Given the description of an element on the screen output the (x, y) to click on. 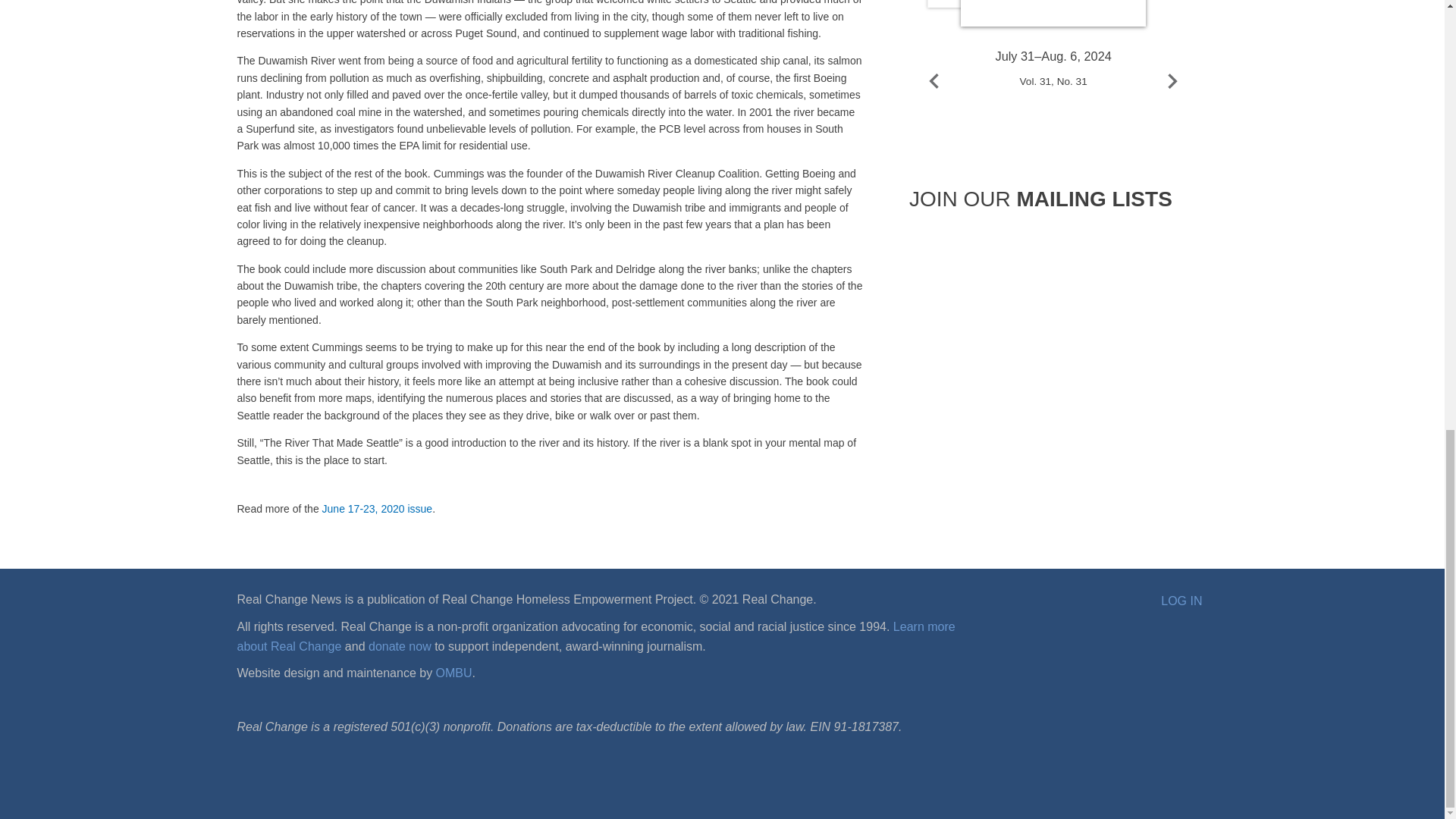
OMBU (453, 672)
Previous issue (933, 80)
LOG IN (1181, 600)
June 17-23, 2020 issue (376, 508)
donate now (399, 645)
Next issue (1172, 80)
Learn more about Real Change (595, 635)
